Given the description of an element on the screen output the (x, y) to click on. 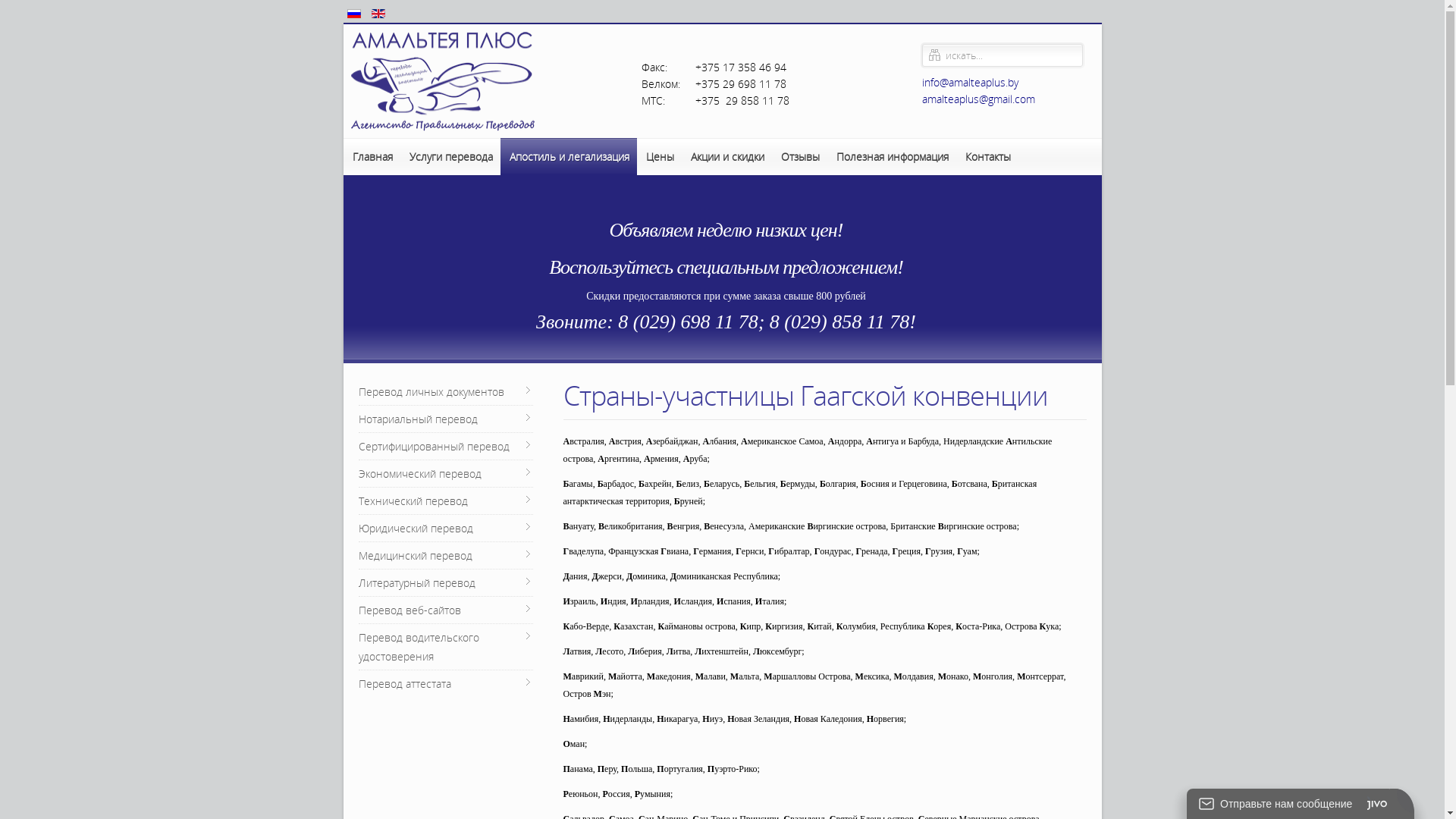
info@amalteaplus.by Element type: text (970, 82)
amalteaplus Element type: text (950, 98)
Reset Element type: text (12, 4)
English (UK) Element type: hover (378, 13)
